Given the description of an element on the screen output the (x, y) to click on. 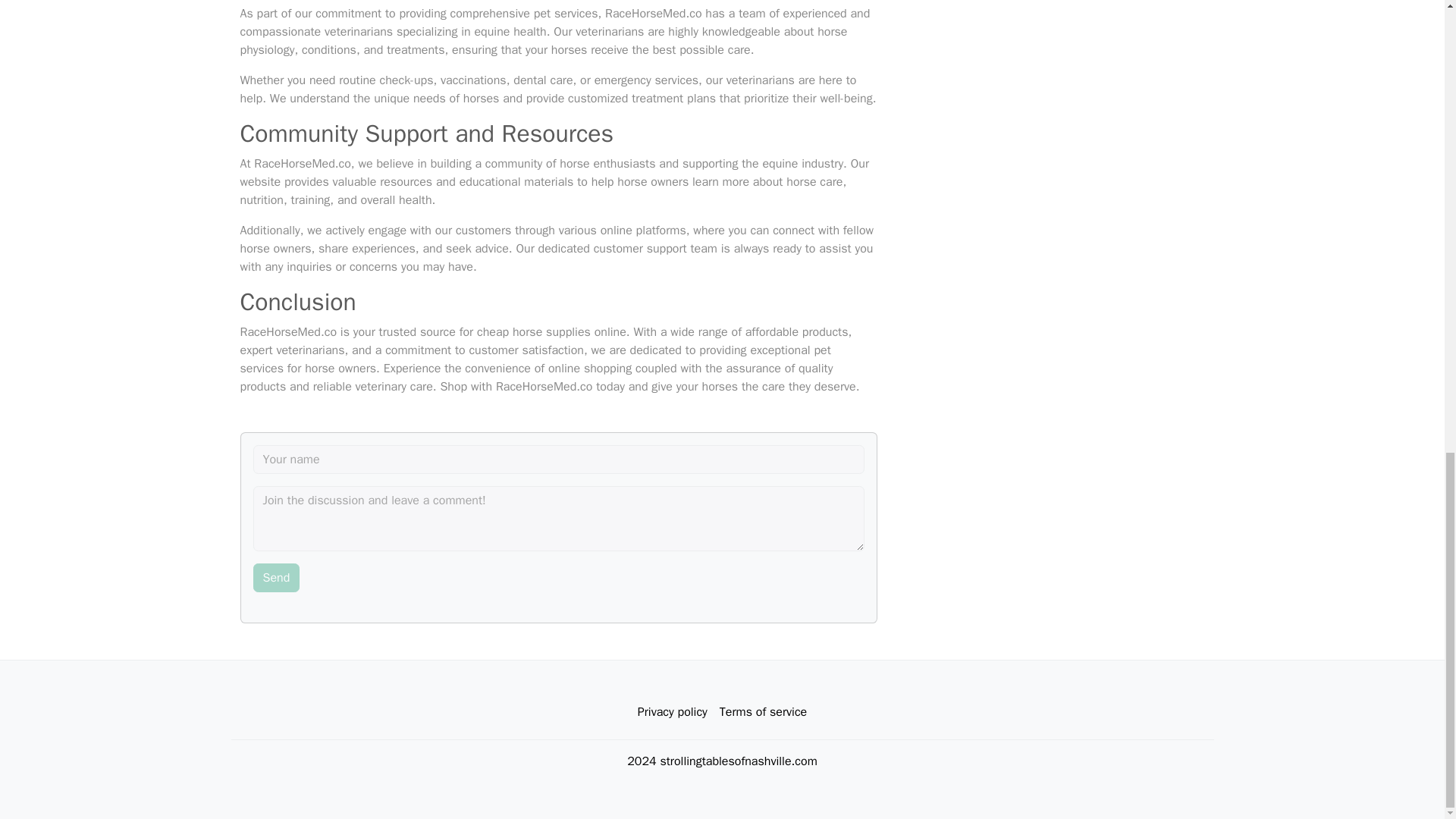
Send (276, 577)
Privacy policy (672, 711)
Send (276, 577)
Terms of service (762, 711)
